Given the description of an element on the screen output the (x, y) to click on. 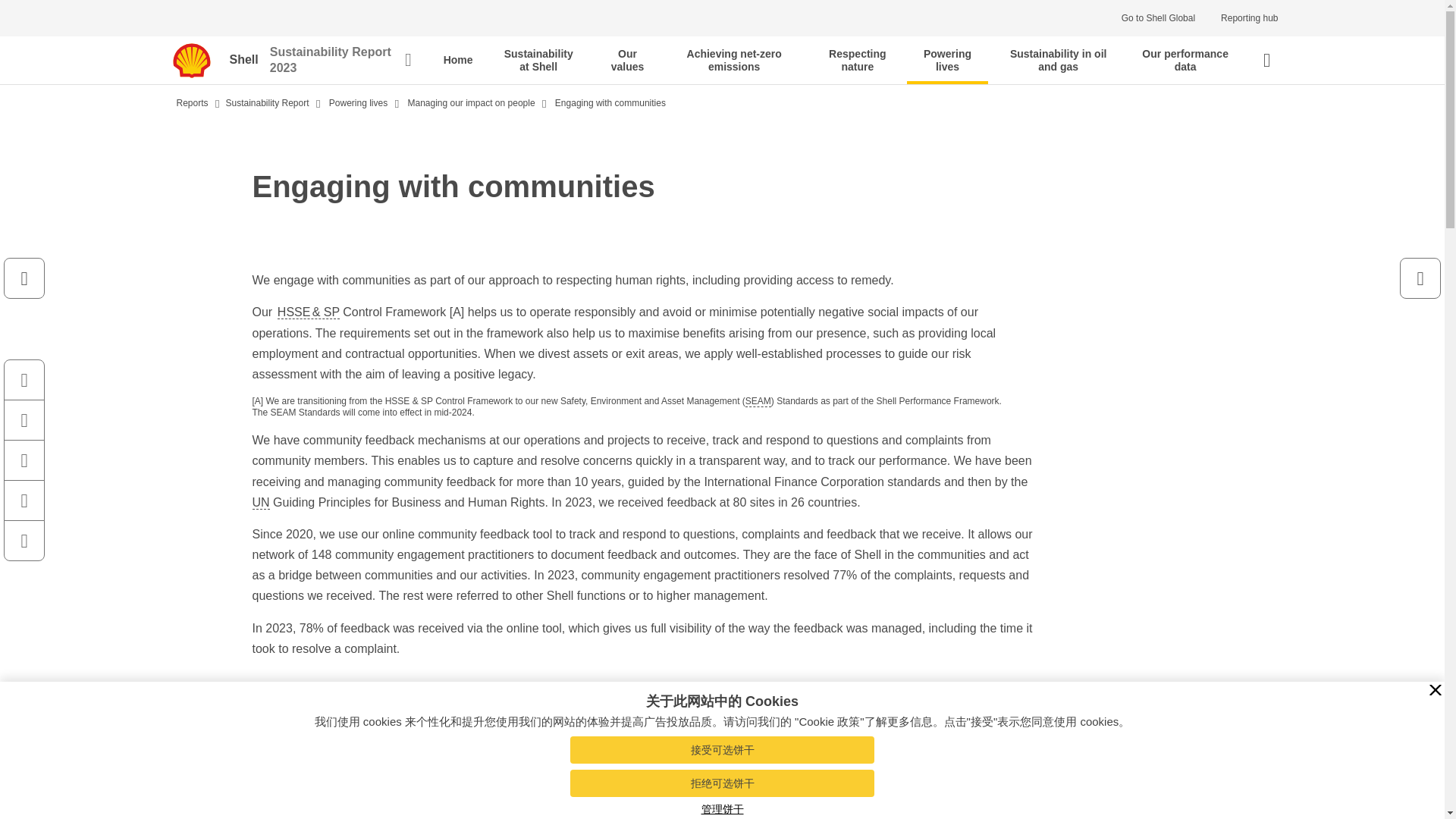
Sustainability at Shell (538, 60)
Reporting hub (1249, 18)
Sustainability Report 2023 (340, 60)
Go to Shell Global (1158, 18)
Home (457, 60)
Our values (627, 60)
Shell (248, 60)
